Given the description of an element on the screen output the (x, y) to click on. 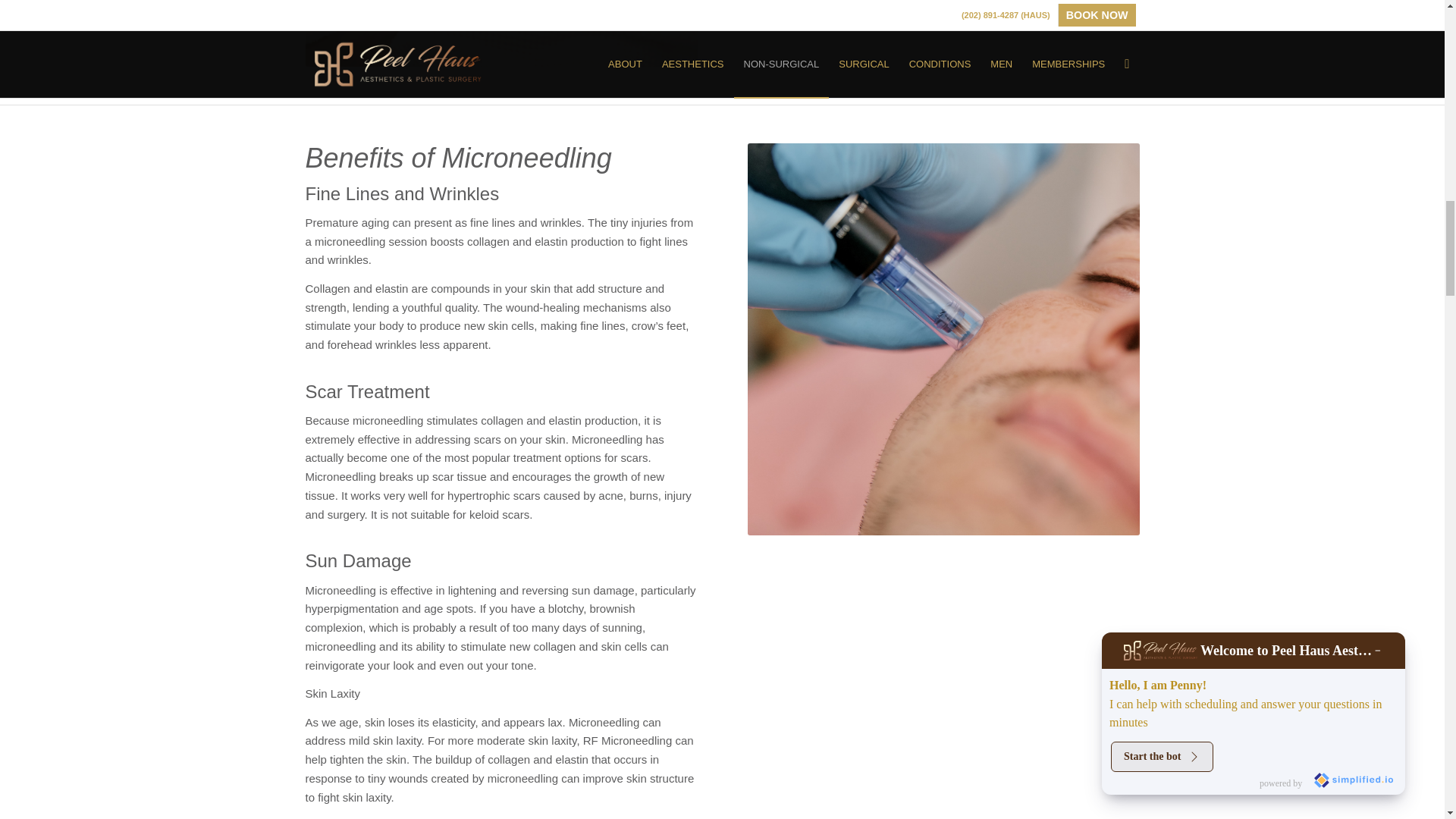
microneedling dc (500, 33)
